Given the description of an element on the screen output the (x, y) to click on. 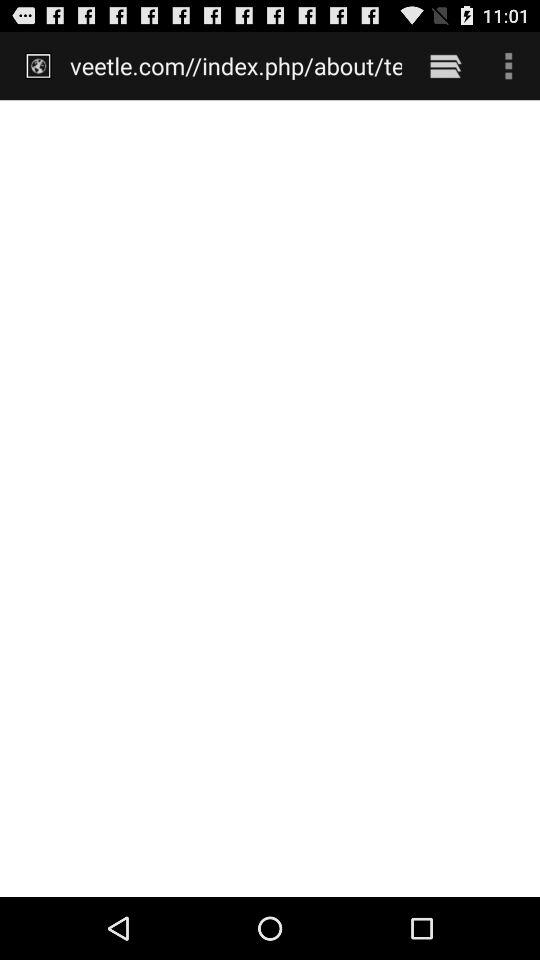
jump to the veetle com index icon (235, 65)
